Given the description of an element on the screen output the (x, y) to click on. 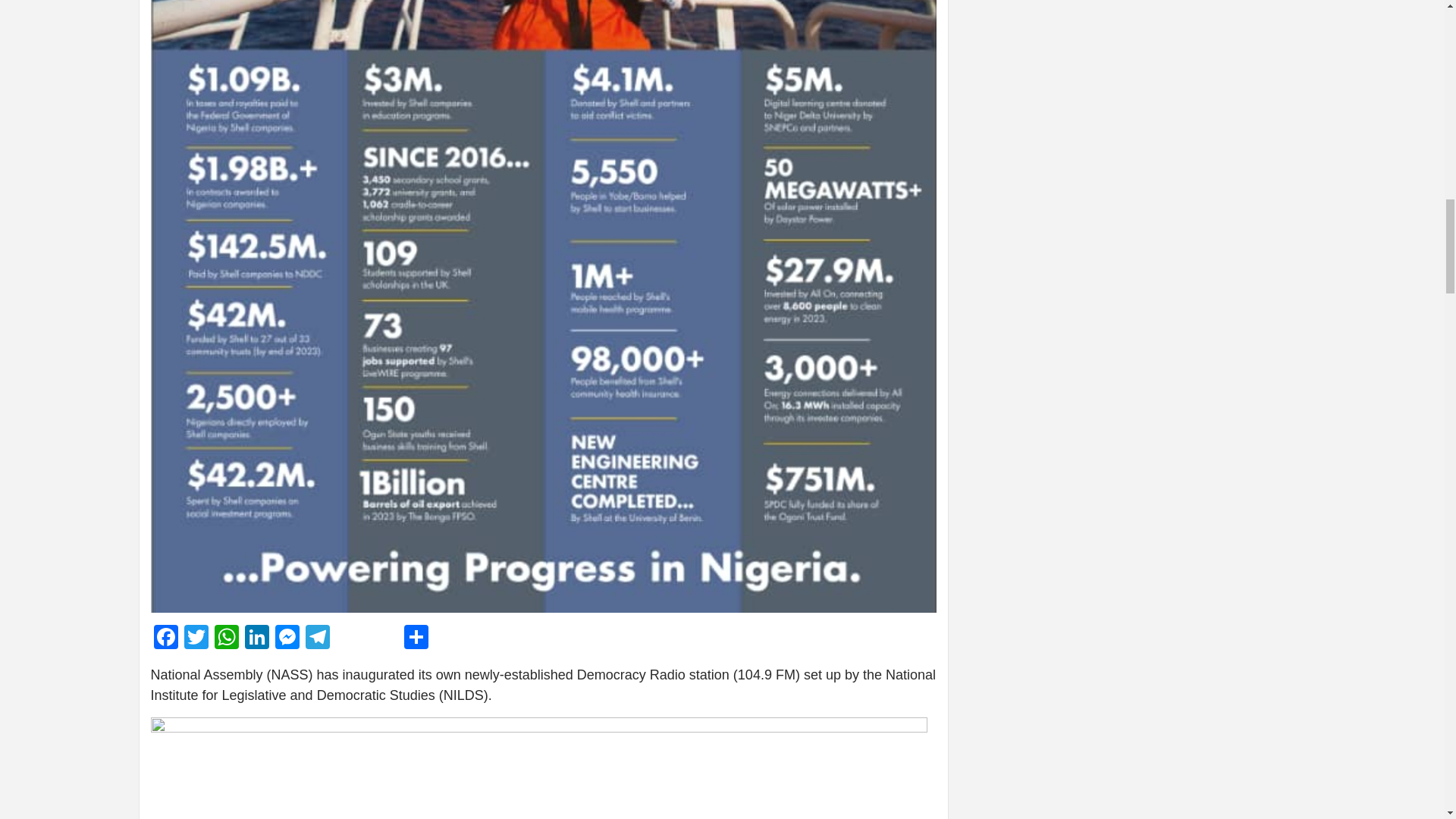
Messenger (285, 638)
WhatsApp (226, 638)
LinkedIn (255, 638)
Facebook (164, 638)
Telegram (316, 638)
Facebook (164, 638)
Twitter (195, 638)
Share (415, 638)
Telegram (316, 638)
Twitter (195, 638)
LinkedIn (255, 638)
WhatsApp (226, 638)
Messenger (285, 638)
